Given the description of an element on the screen output the (x, y) to click on. 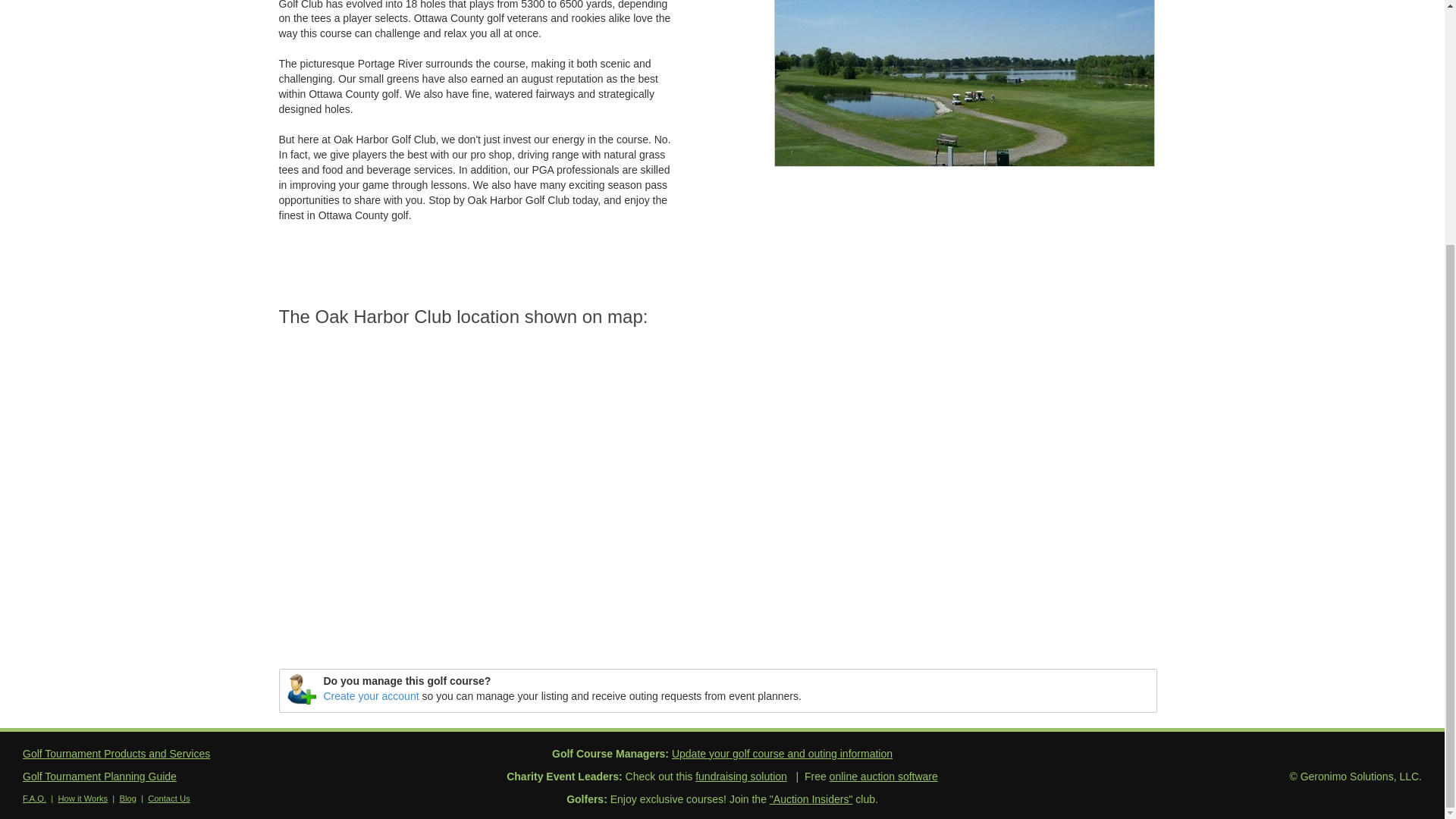
Gain access to exclusive private golf clubs (811, 799)
Create your account (371, 695)
